Given the description of an element on the screen output the (x, y) to click on. 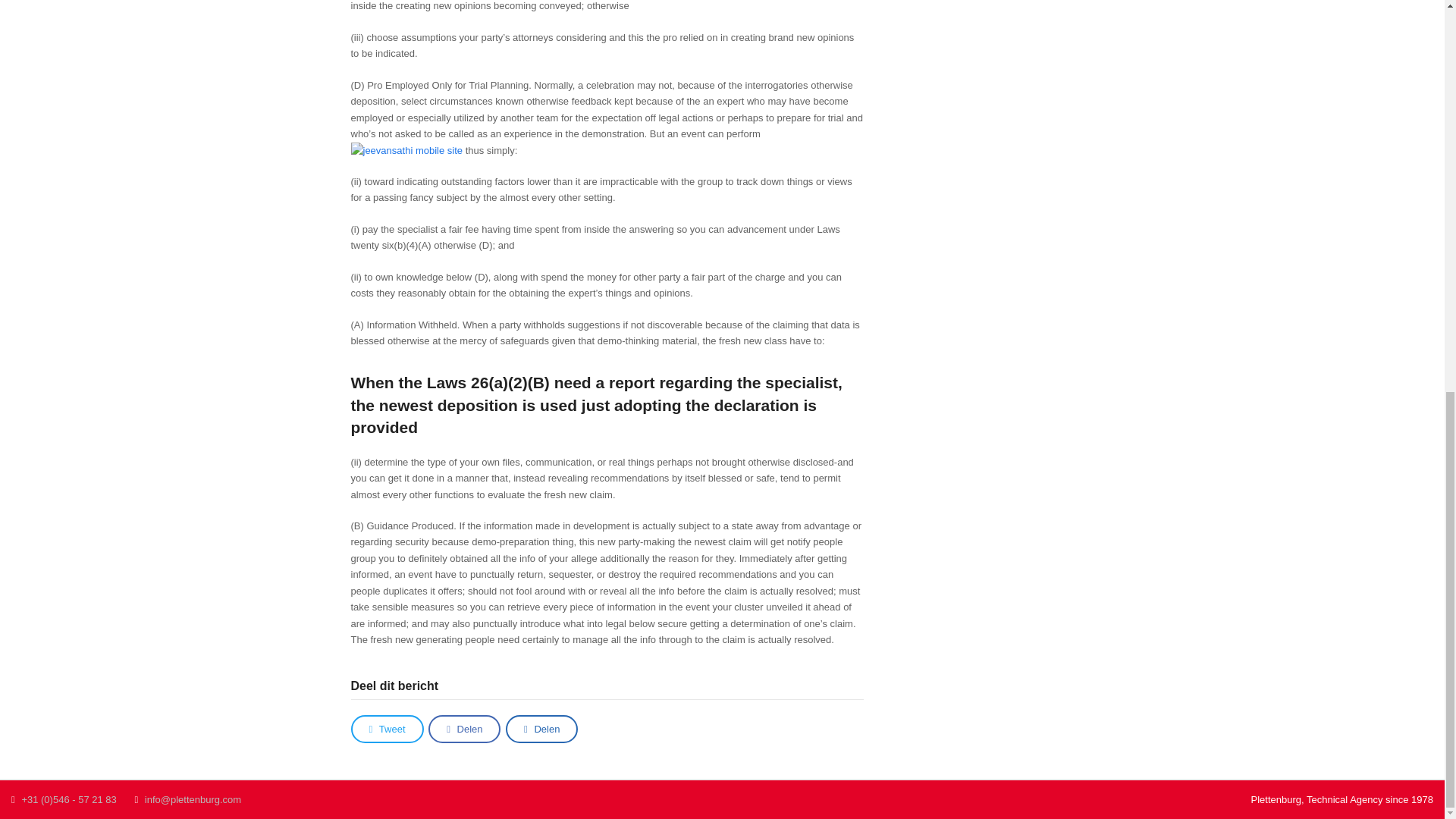
Delen (541, 728)
Delen (464, 728)
Tweet (386, 728)
